Given the description of an element on the screen output the (x, y) to click on. 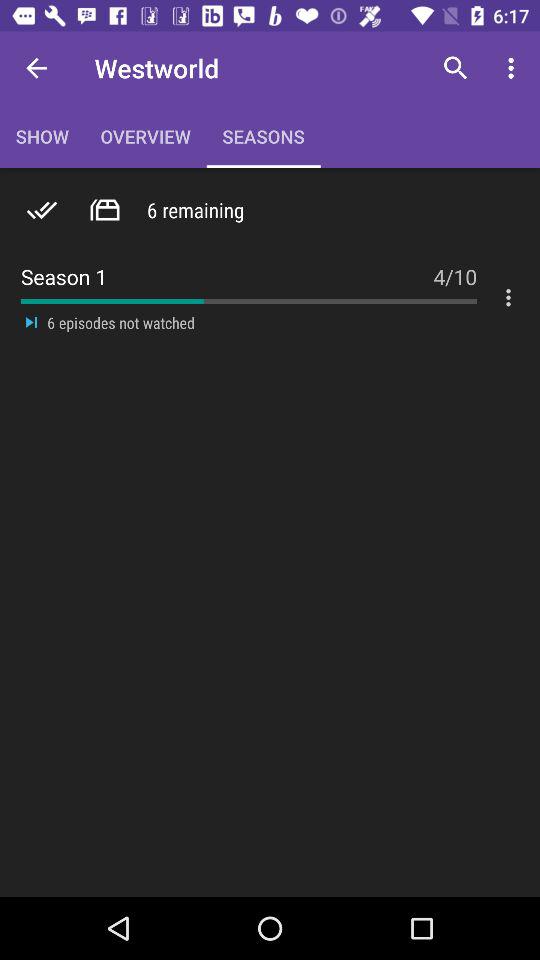
choose the item next to 6 remaining icon (104, 209)
